Given the description of an element on the screen output the (x, y) to click on. 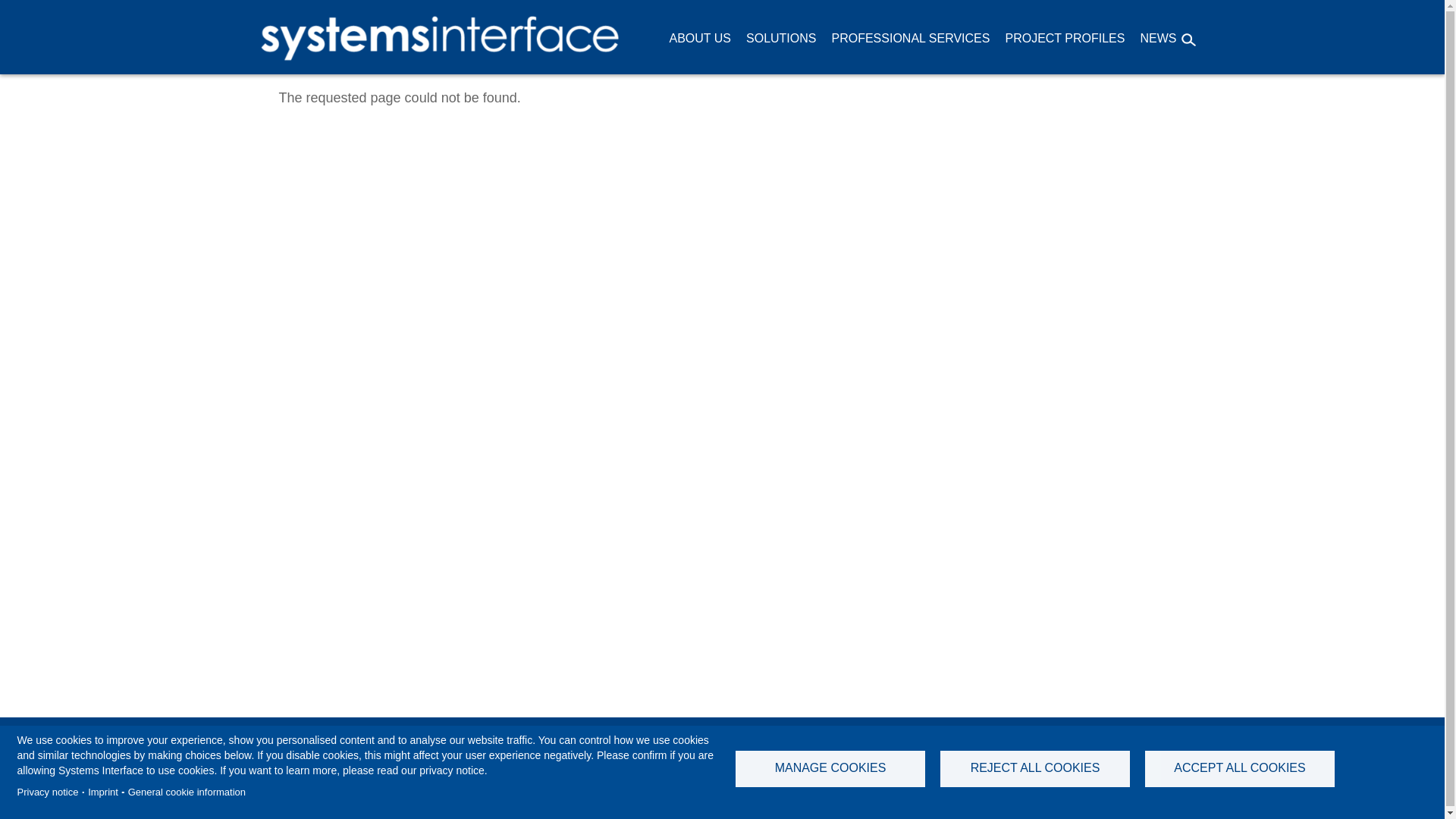
Privacy notice (47, 792)
PRIVACY NOTICE (1032, 743)
NEWS (1157, 38)
Imprint (102, 792)
REJECT ALL COOKIES (1034, 769)
IMPRINT (932, 743)
ABOUT US (700, 38)
PROJECT PROFILES (1064, 38)
Manage cookies (130, 806)
